Given the description of an element on the screen output the (x, y) to click on. 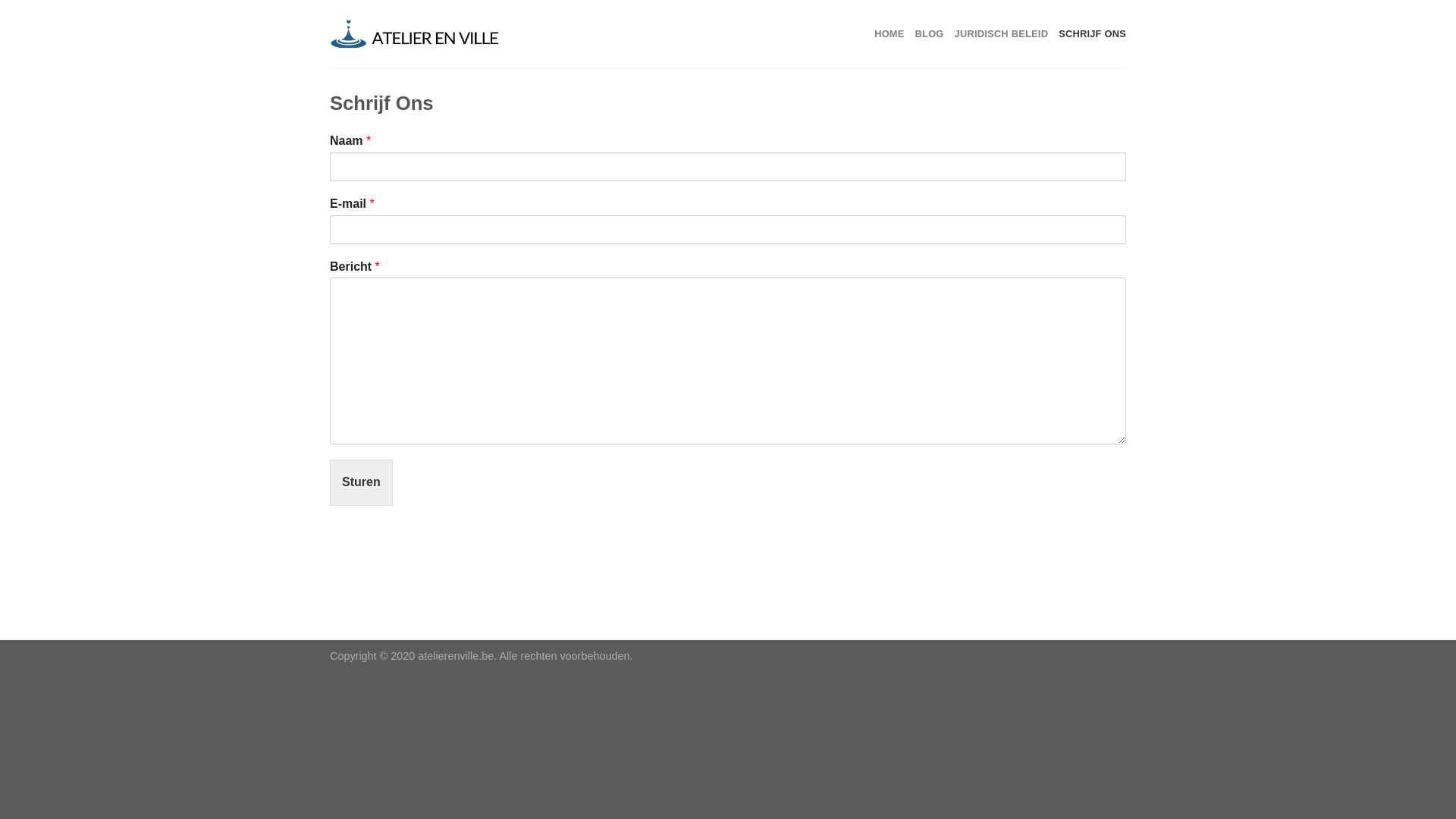
Skip to content Element type: text (0, 0)
Sturen Element type: text (360, 482)
JURIDISCH BELEID Element type: text (1001, 33)
HOME Element type: text (888, 33)
BLOG Element type: text (929, 33)
SCHRIJF ONS Element type: text (1092, 33)
